Given the description of an element on the screen output the (x, y) to click on. 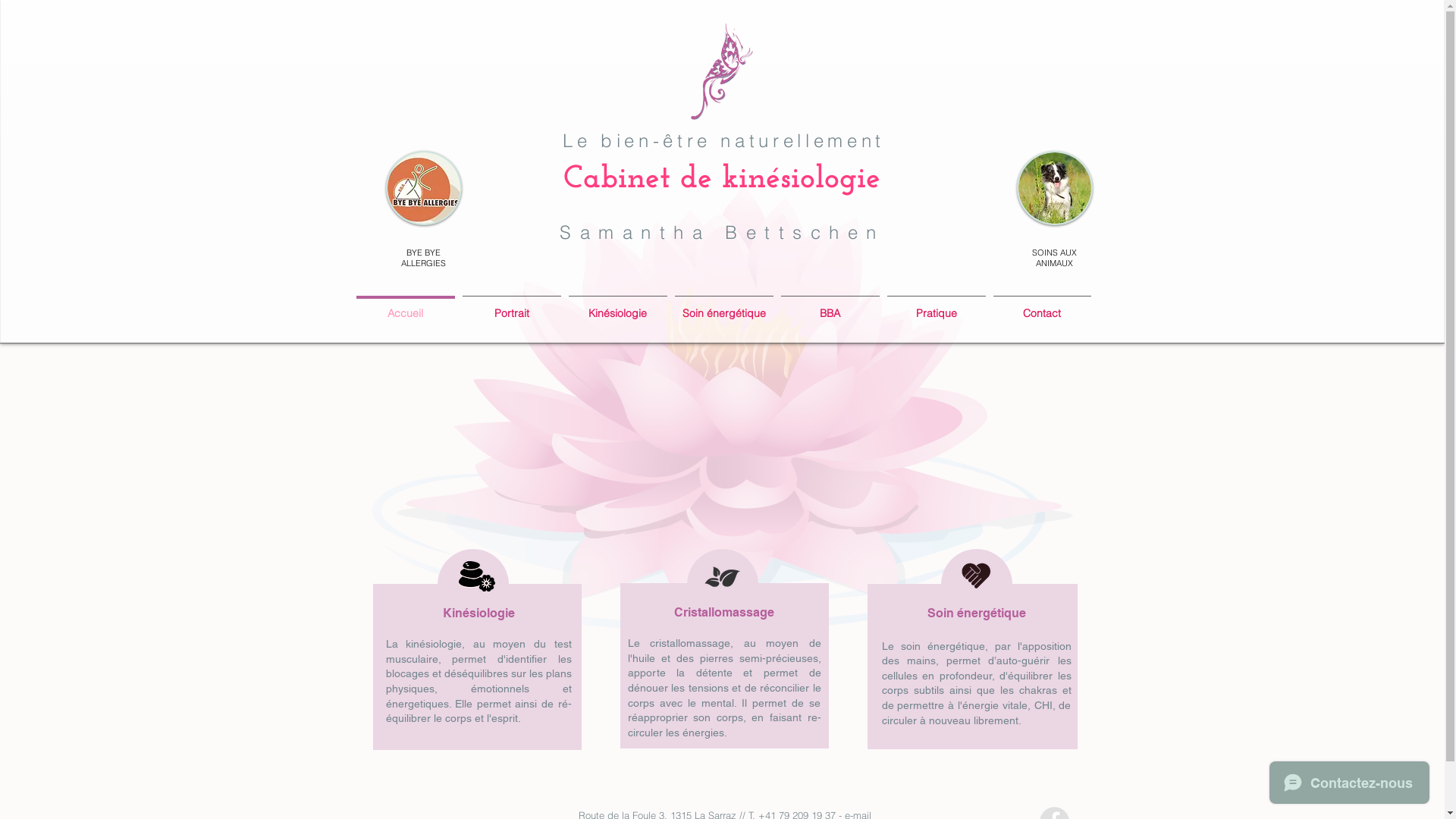
Cristallomassage Element type: text (724, 611)
Jazz_2.jpg Element type: hover (1054, 187)
Accueil Element type: text (404, 306)
BBA Element type: text (829, 306)
Pratique Element type: text (935, 306)
Contact Element type: text (1041, 306)
logo 2.png Element type: hover (722, 71)
Portrait Element type: text (511, 306)
